Given the description of an element on the screen output the (x, y) to click on. 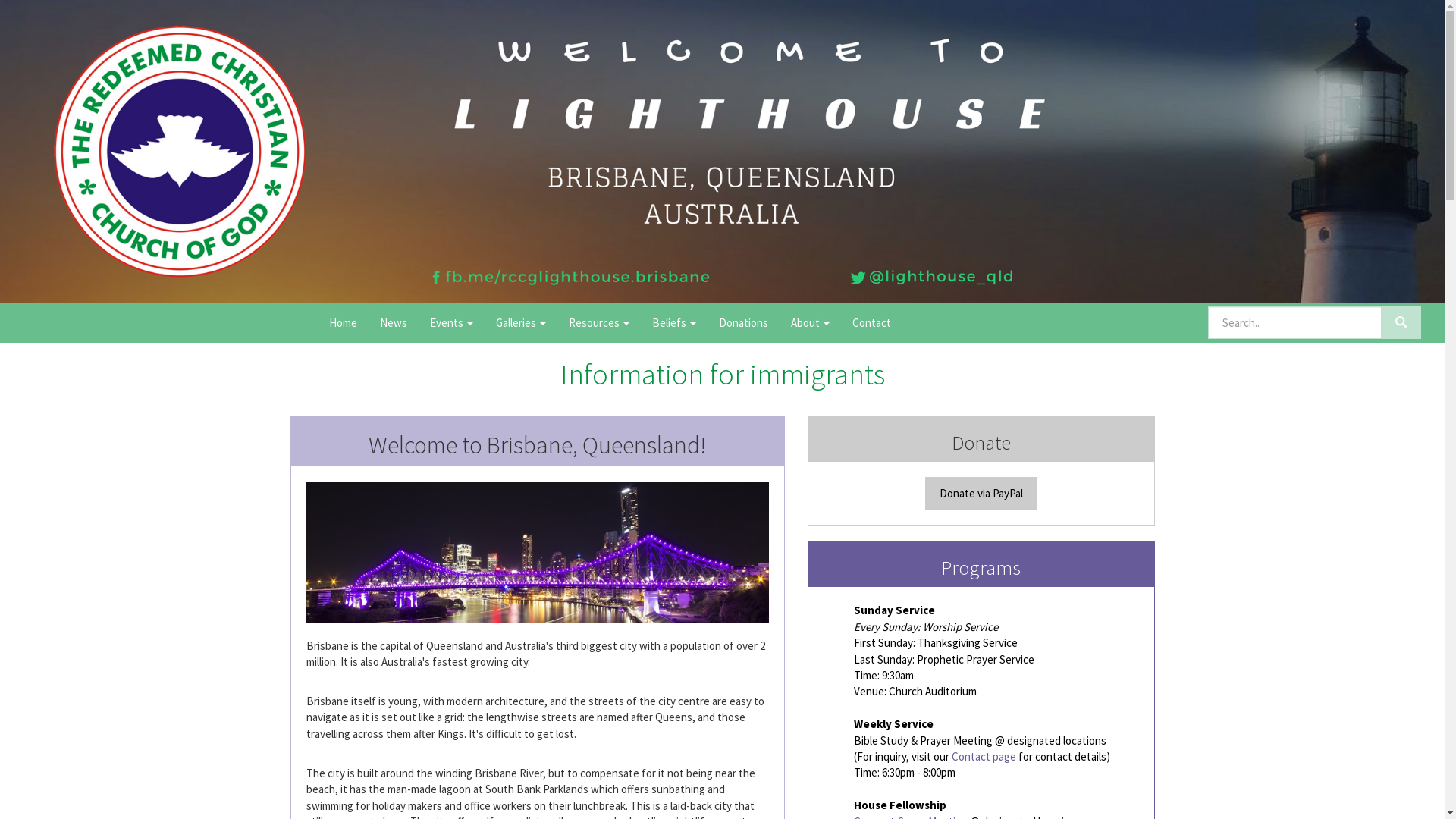
Events Element type: text (451, 322)
Resources Element type: text (598, 322)
Galleries Element type: text (520, 322)
Home Element type: text (342, 322)
About Element type: text (809, 322)
Donate via PayPal Element type: text (981, 492)
News Element type: text (393, 322)
Contact page Element type: text (983, 756)
Contact Element type: text (871, 322)
Beliefs Element type: text (673, 322)
Donations Element type: text (743, 322)
